Given the description of an element on the screen output the (x, y) to click on. 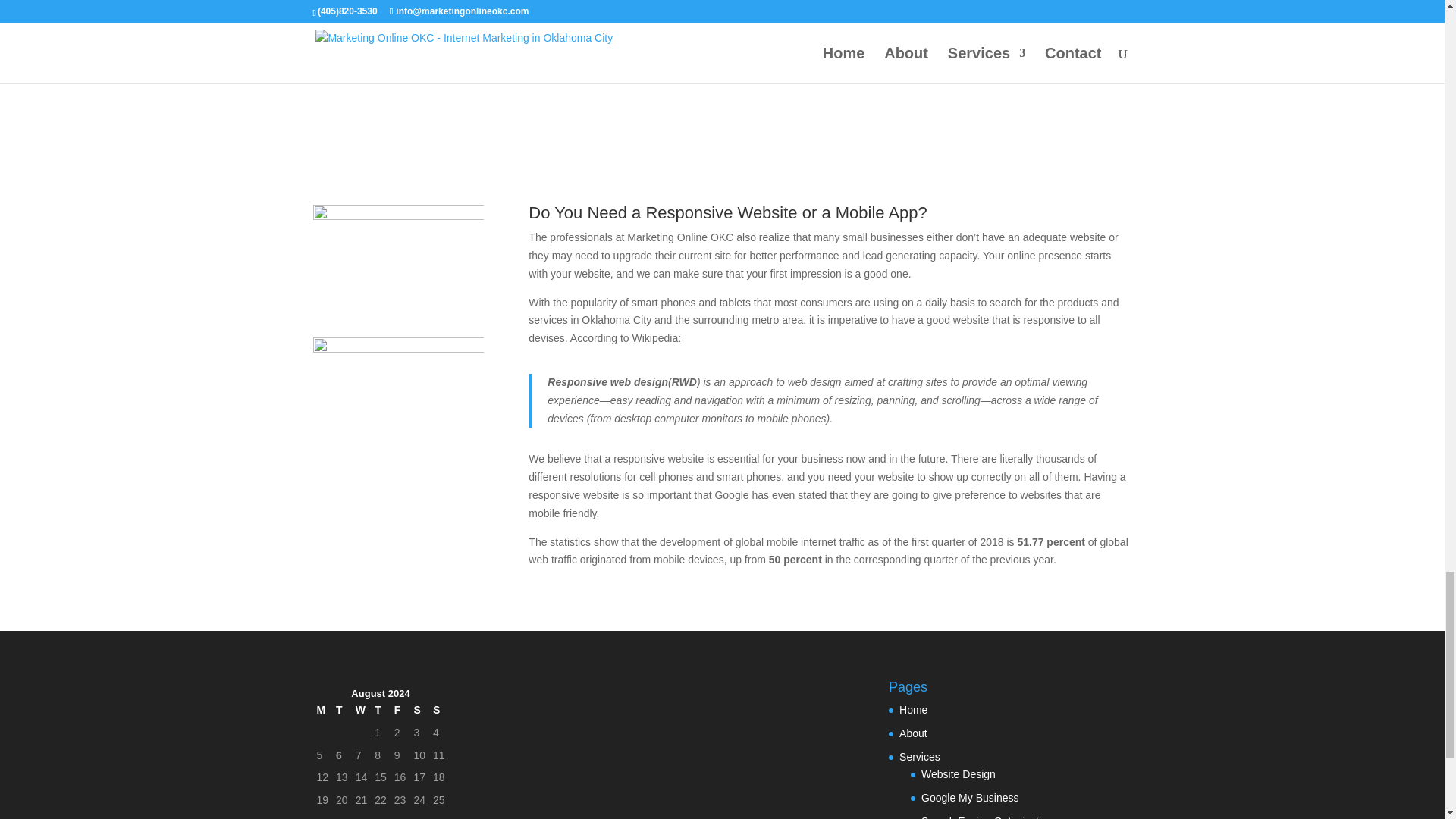
Search Engine Optimization (986, 816)
contact form (602, 54)
Website Design (958, 774)
Google My Business (969, 797)
405.820.3530 (476, 54)
About (913, 733)
Services (919, 756)
Home (913, 709)
